Given the description of an element on the screen output the (x, y) to click on. 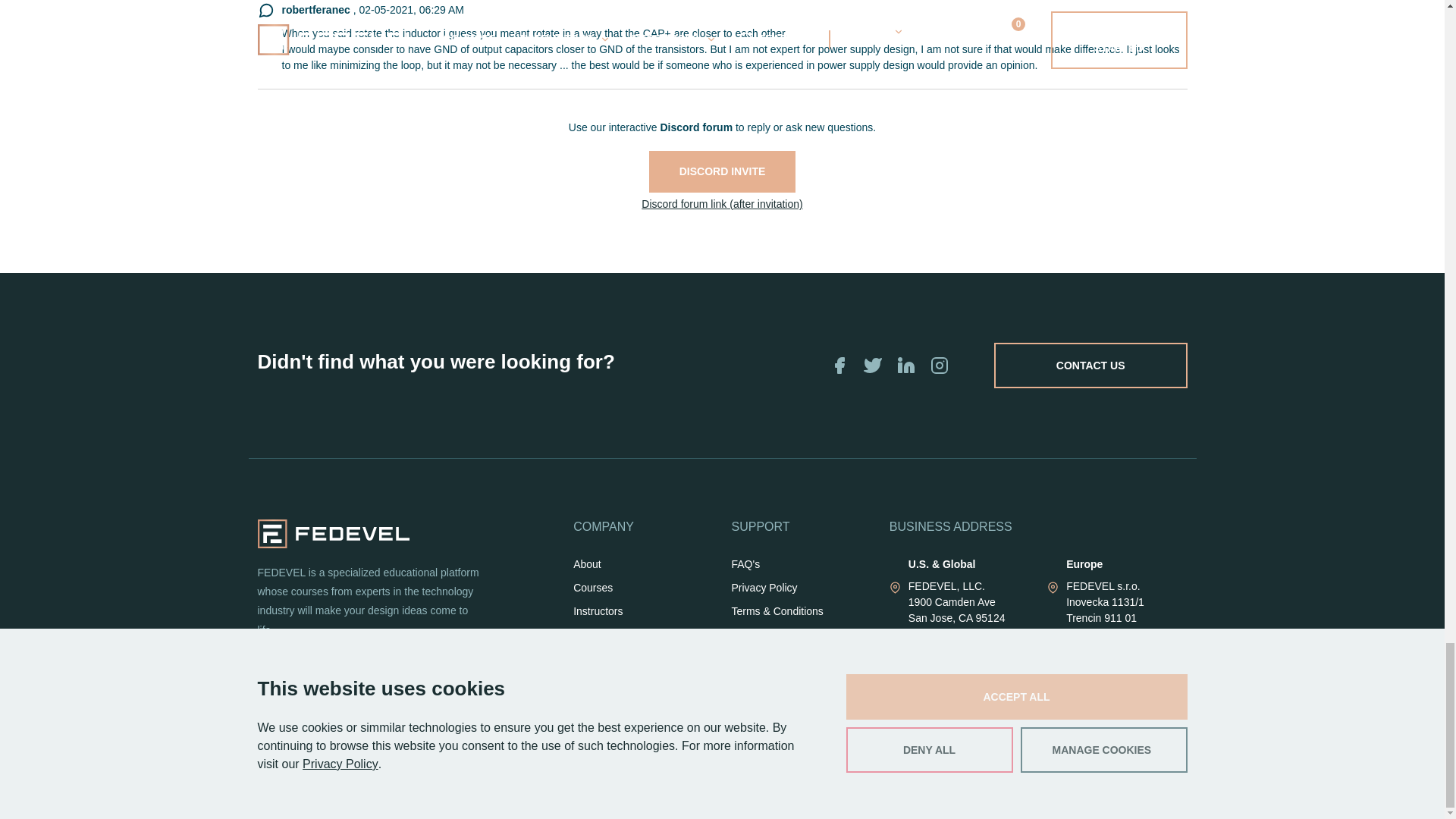
About (587, 564)
CONTACT US (1091, 365)
Courses (592, 587)
DISCORD INVITE (722, 171)
